Given the description of an element on the screen output the (x, y) to click on. 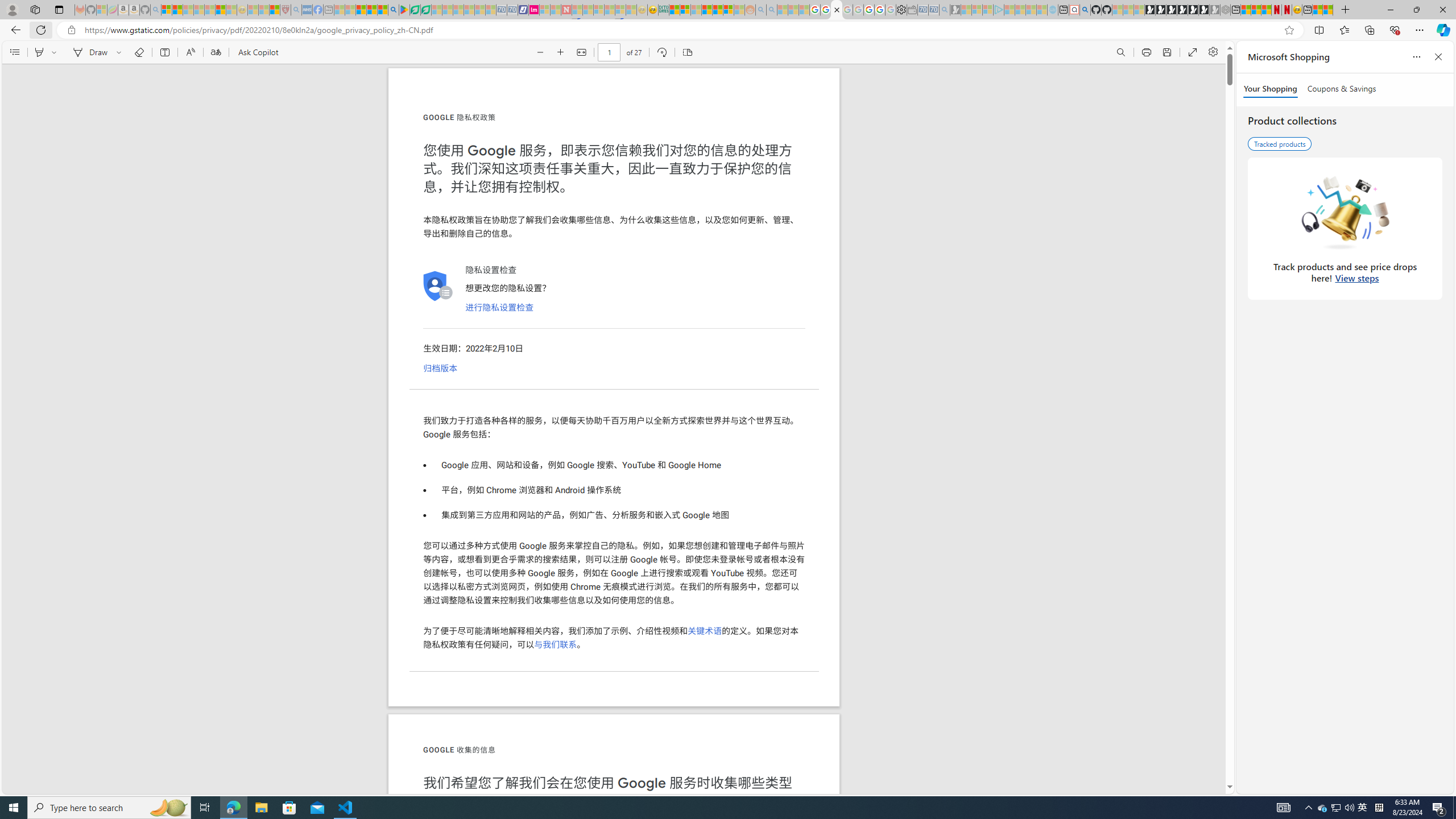
Cheap Hotels - Save70.com - Sleeping (512, 9)
New tab - Sleeping (328, 9)
Local - MSN (274, 9)
Microsoft Word - consumer-privacy address update 2.2021 (426, 9)
Recipes - MSN - Sleeping (253, 9)
Play Free Online Games | Games from Microsoft Start (1150, 9)
Select a highlight color (56, 52)
Kinda Frugal - MSN (717, 9)
